Given the description of an element on the screen output the (x, y) to click on. 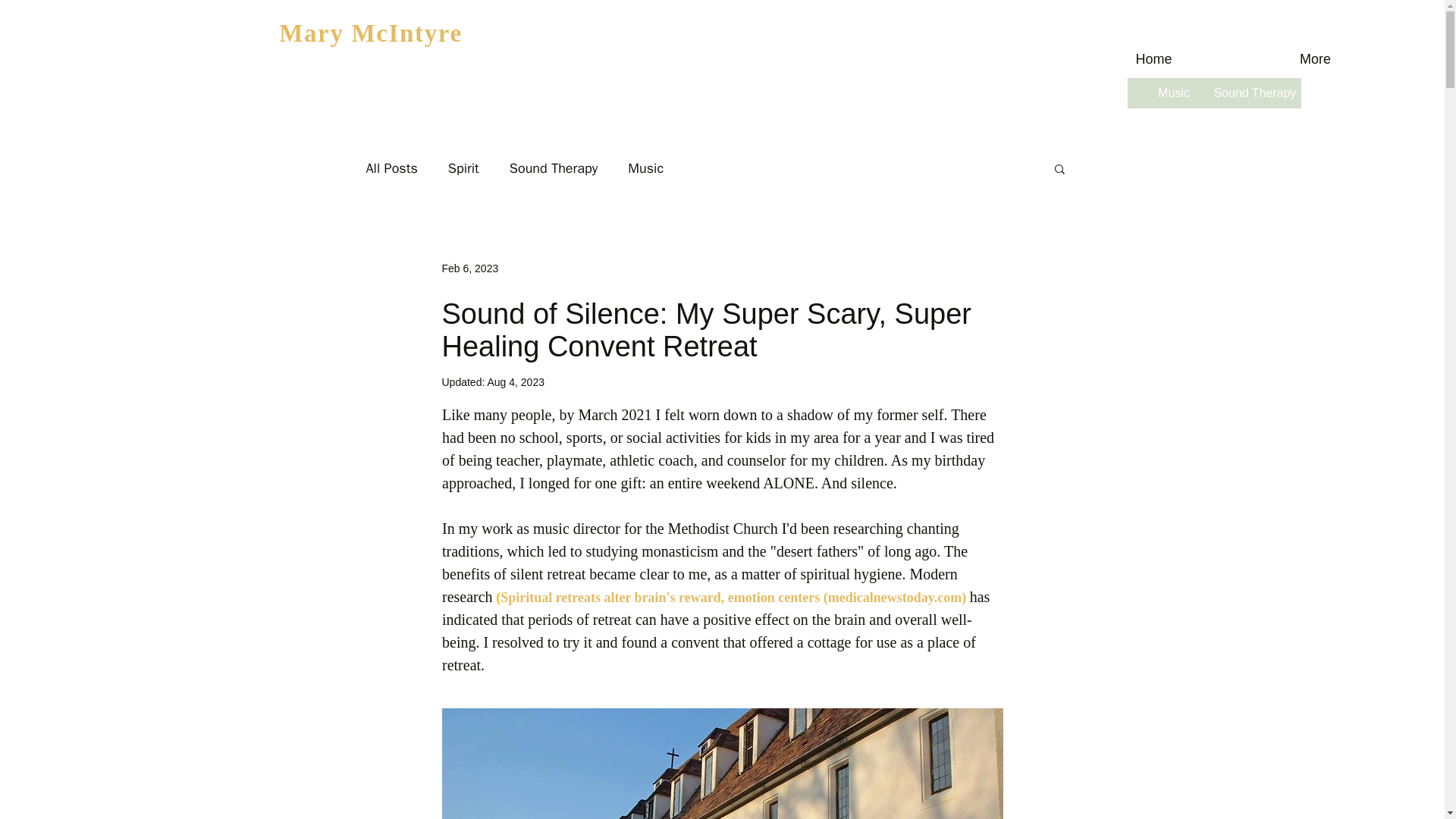
Music (645, 167)
Sound Therapy (552, 167)
Aug 4, 2023 (515, 381)
Mary McIntyre (371, 32)
Spirit (463, 167)
Music (1173, 92)
Sound Therapy (1254, 92)
Feb 6, 2023 (469, 268)
All Posts (390, 167)
Home (1153, 58)
